Given the description of an element on the screen output the (x, y) to click on. 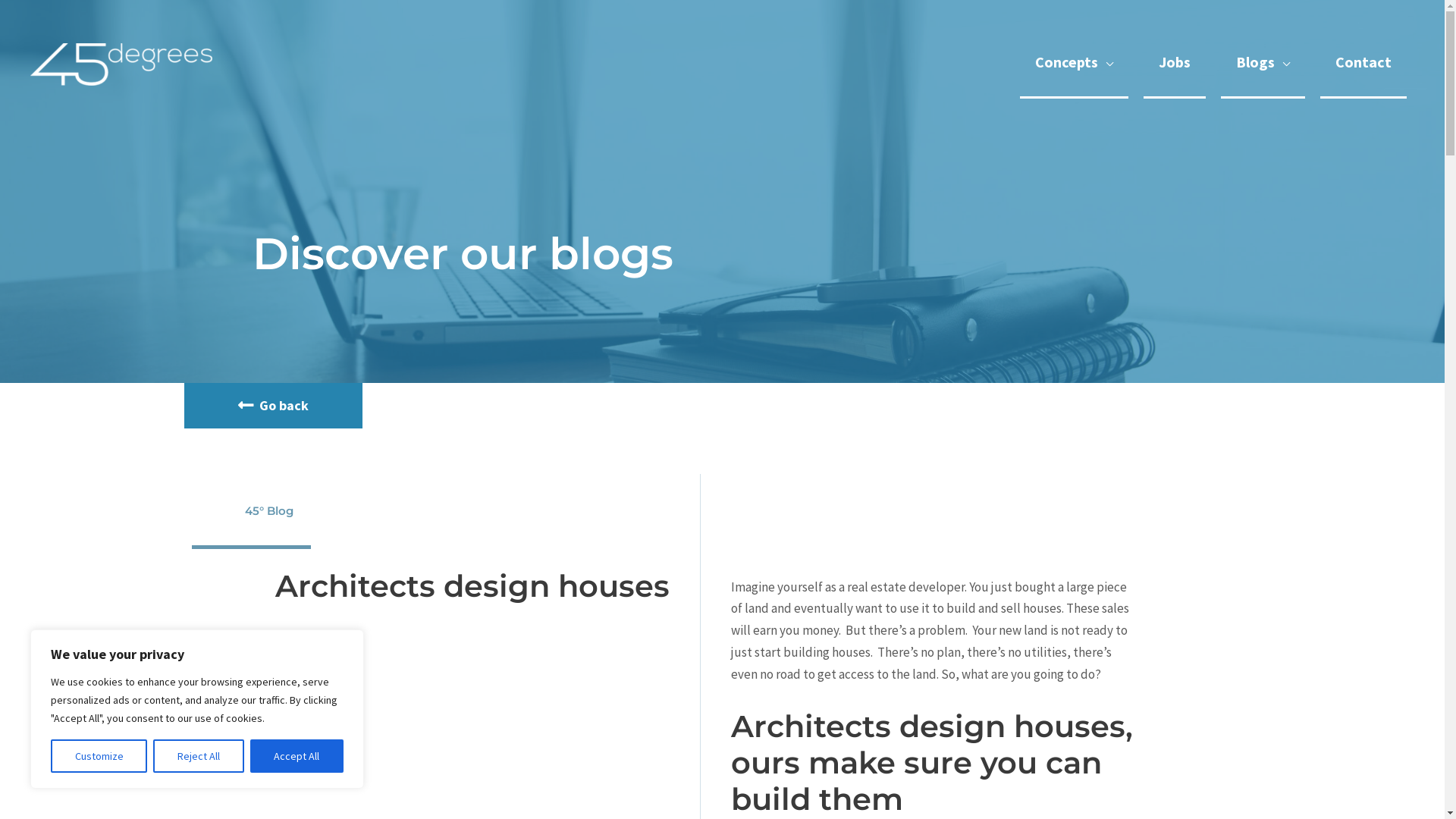
Go back Element type: text (272, 405)
Accept All Element type: text (296, 755)
Blogs Element type: text (1262, 64)
Concepts Element type: text (1073, 64)
Jobs Element type: text (1174, 64)
Contact Element type: text (1363, 64)
Customize Element type: text (98, 755)
Reject All Element type: text (198, 755)
